Given the description of an element on the screen output the (x, y) to click on. 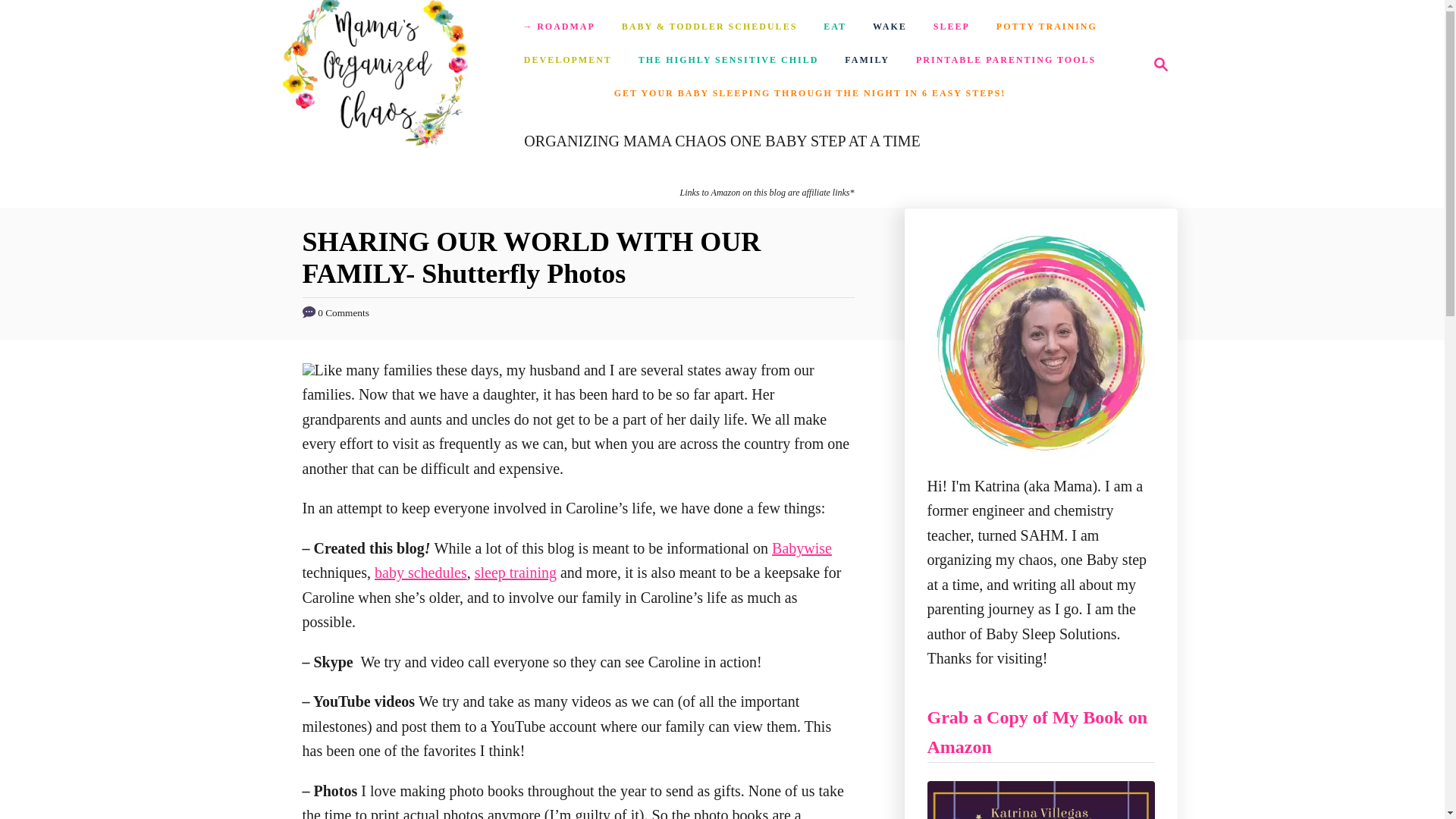
FAMILY (866, 60)
baby schedules (420, 572)
PRINTABLE PARENTING TOOLS (1155, 64)
Mama's Organized Chaos (1005, 60)
POTTY TRAINING (376, 64)
WAKE (1046, 27)
EAT (889, 27)
DEVELOPMENT (834, 27)
Babywise (568, 60)
